Given the description of an element on the screen output the (x, y) to click on. 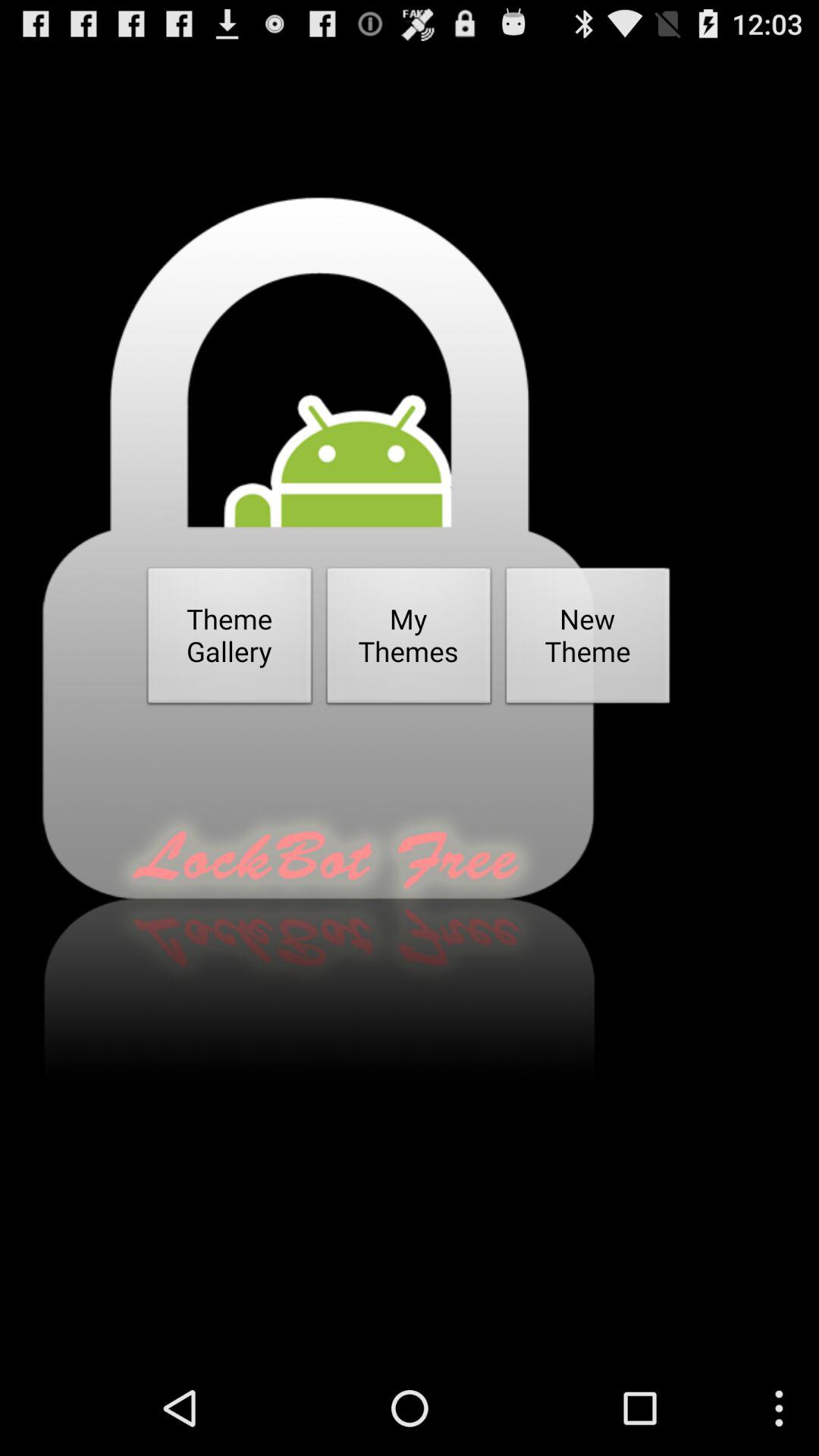
choose the icon next to the my themes icon (229, 639)
